Given the description of an element on the screen output the (x, y) to click on. 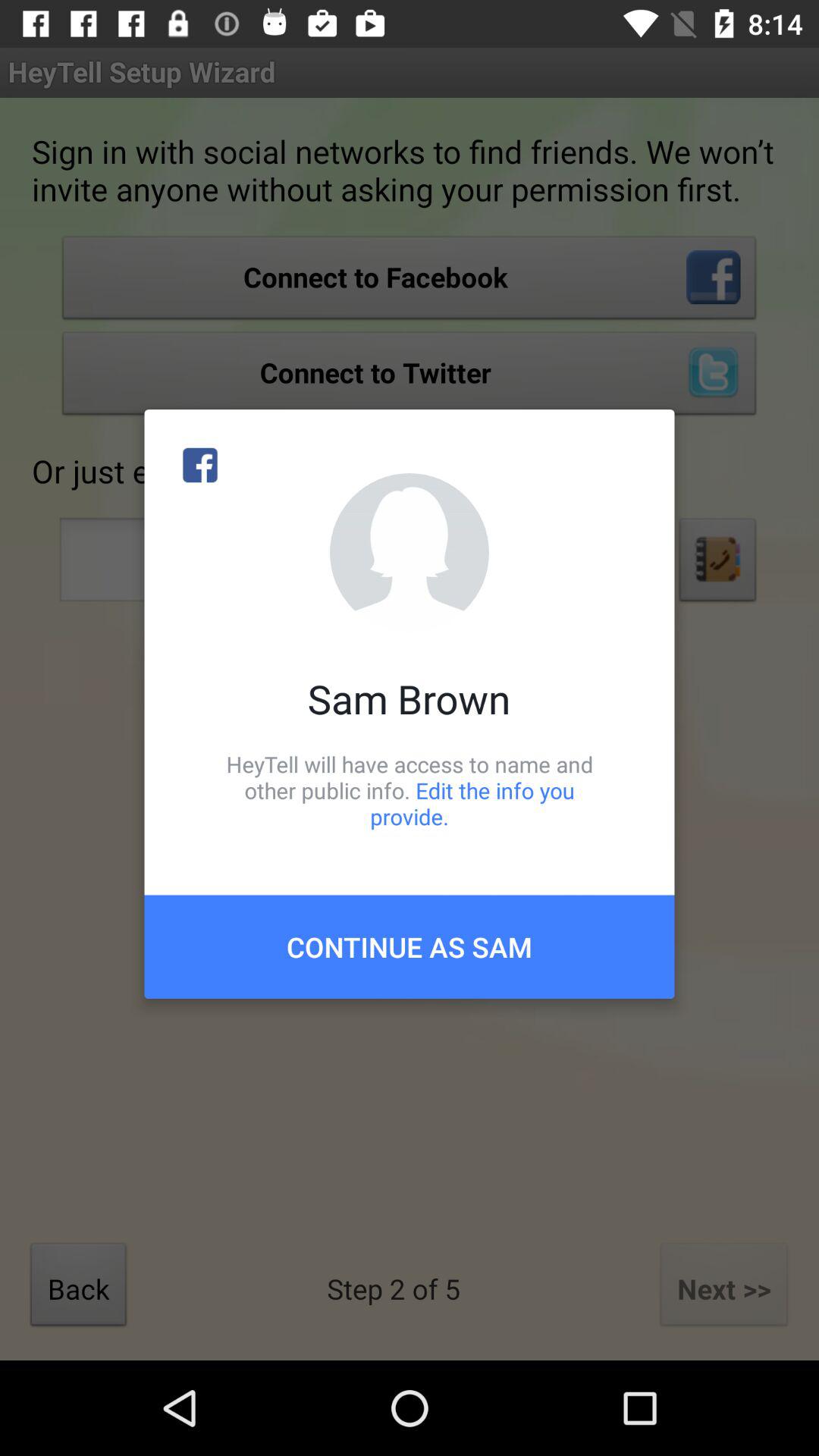
flip to continue as sam item (409, 946)
